Given the description of an element on the screen output the (x, y) to click on. 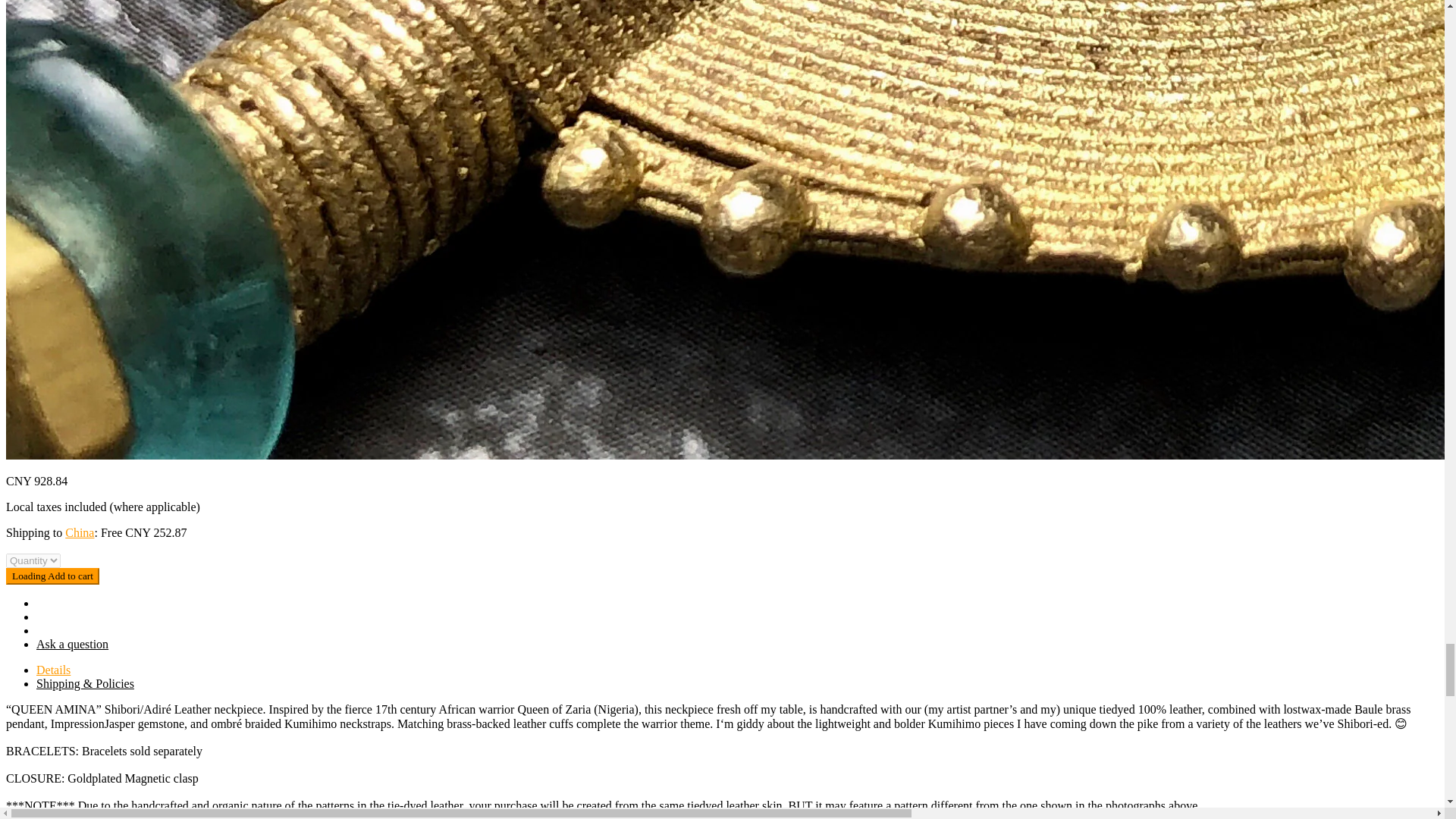
China (79, 532)
Ask a question (71, 644)
Details (52, 669)
Loading Add to cart (52, 576)
